Given the description of an element on the screen output the (x, y) to click on. 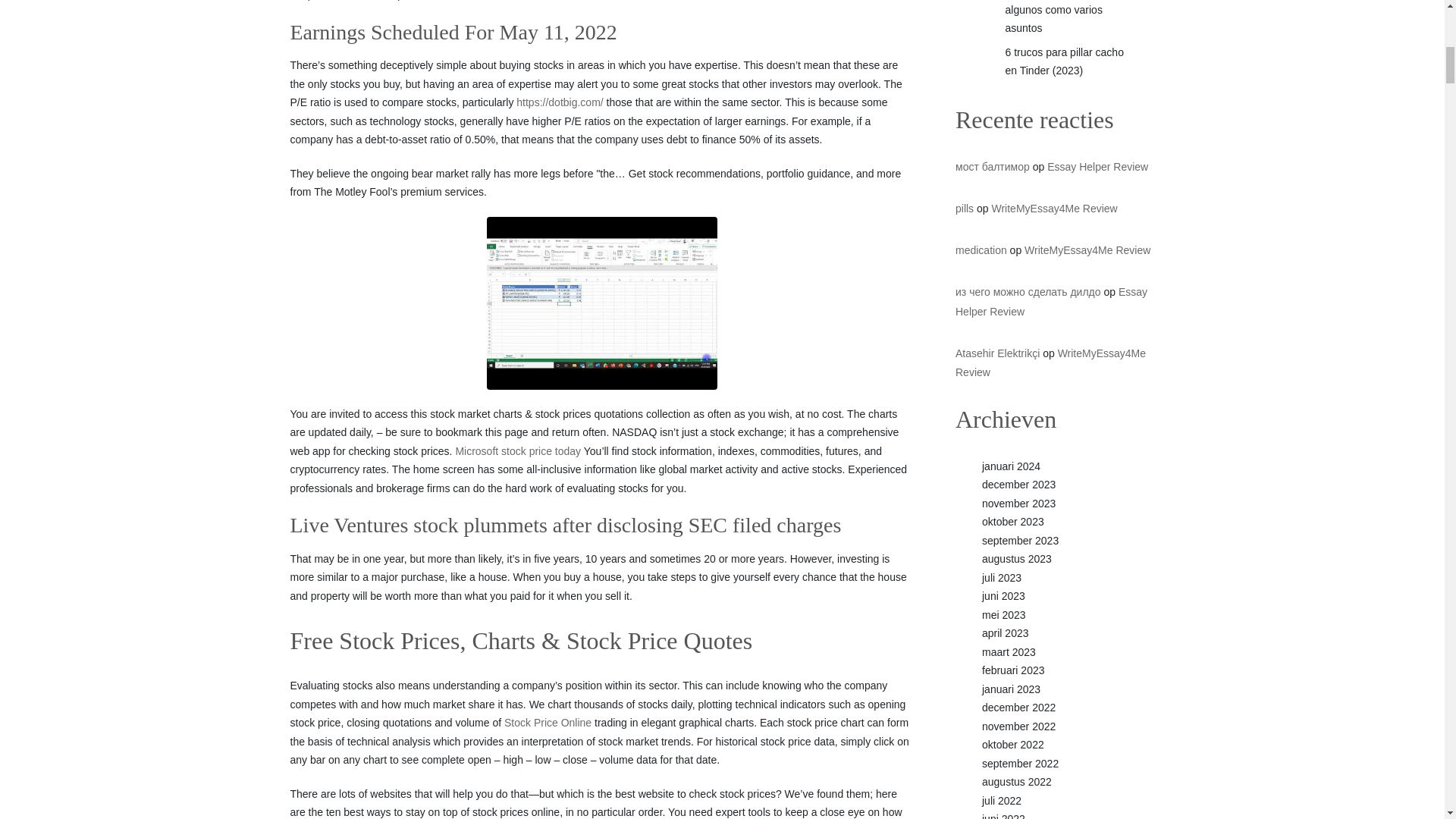
WriteMyEssay4Me Review (1050, 362)
januari 2024 (1011, 466)
juli 2023 (1001, 577)
december 2023 (1018, 484)
mei 2023 (1003, 614)
WriteMyEssay4Me Review (1053, 208)
juni 2023 (1003, 595)
augustus 2023 (1016, 558)
september 2023 (1019, 540)
Microsoft stock price today (517, 451)
november 2023 (1018, 503)
WriteMyEssay4Me Review (1087, 250)
oktober 2023 (1012, 521)
pills (964, 208)
medication (981, 250)
